Given the description of an element on the screen output the (x, y) to click on. 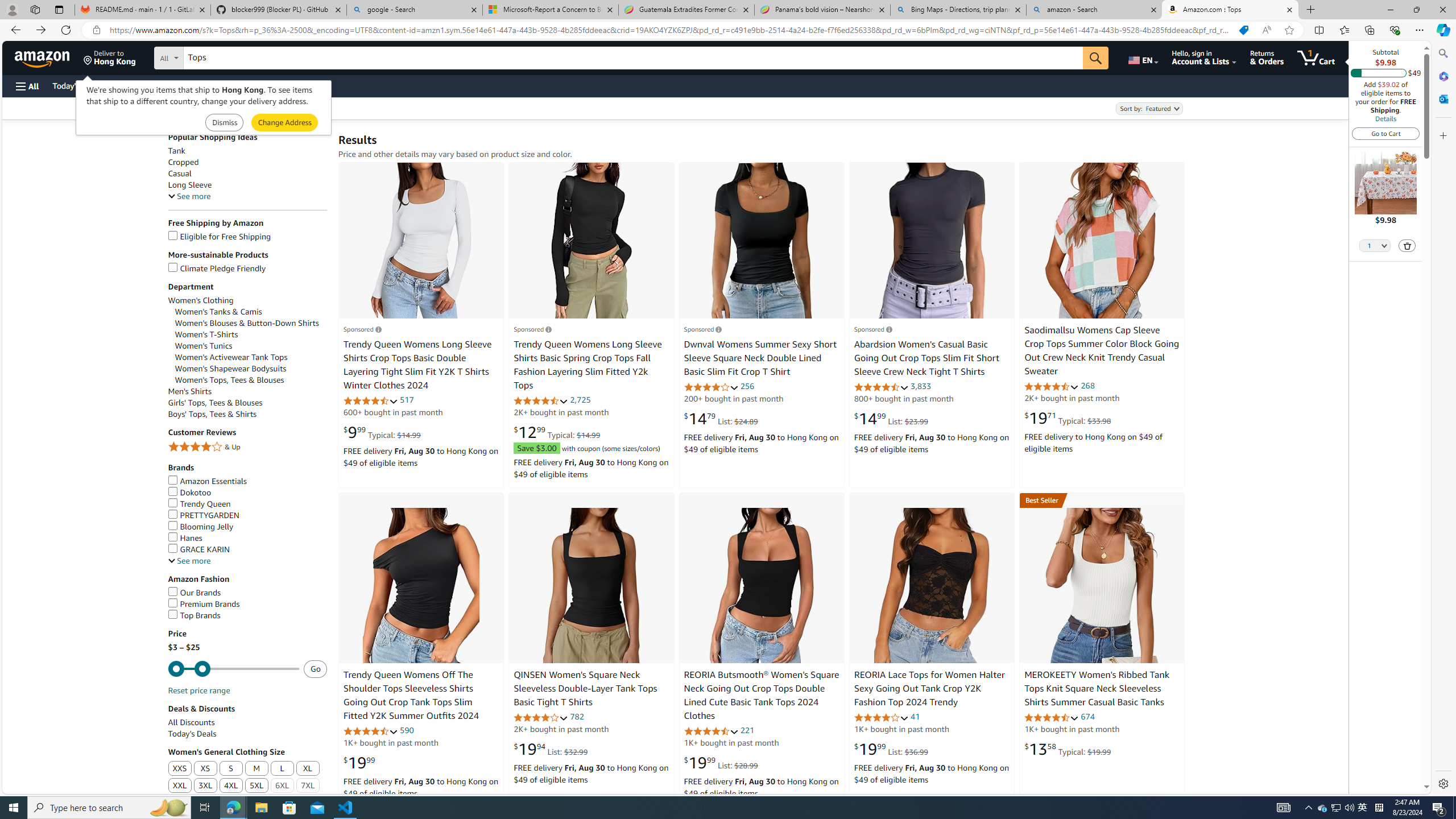
Submit (284, 122)
Women's Tanks & Camis (218, 311)
Women's Tops, Tees & Blouses (250, 379)
Hello, sign in Account & Lists (1203, 57)
S (231, 768)
256 (746, 385)
Women's Tanks & Camis (250, 311)
Customer Service (145, 85)
XS (205, 768)
Amazon.com : Tops (1230, 9)
Women's Tops, Tees & Blouses (228, 380)
4.0 out of 5 stars (880, 717)
